Given the description of an element on the screen output the (x, y) to click on. 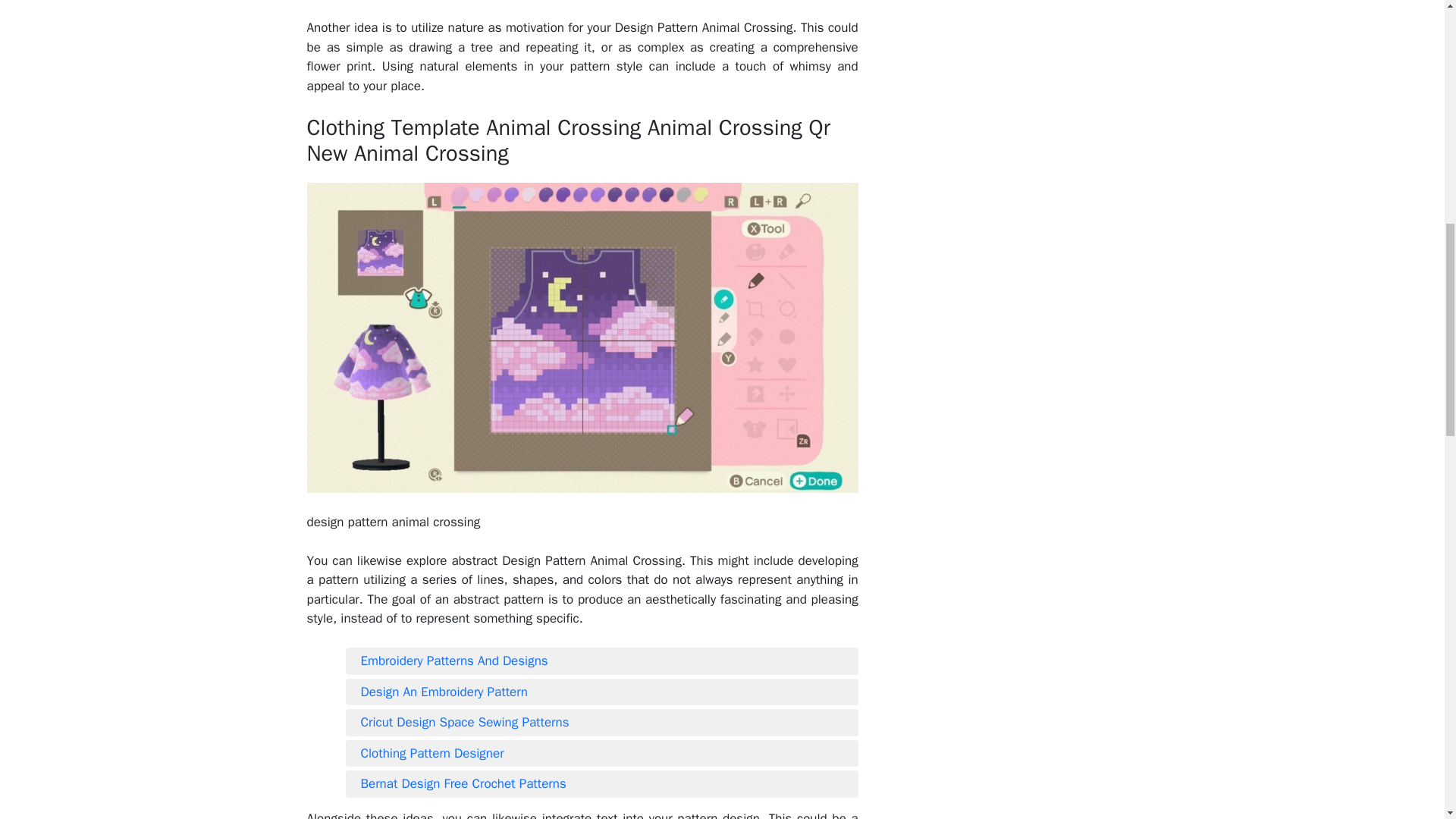
Scroll back to top (1406, 720)
Design An Embroidery Pattern (601, 691)
Bernat Design Free Crochet Patterns (601, 784)
Clothing Pattern Designer (601, 753)
Embroidery Patterns And Designs (601, 661)
Cricut Design Space Sewing Patterns (601, 722)
